Given the description of an element on the screen output the (x, y) to click on. 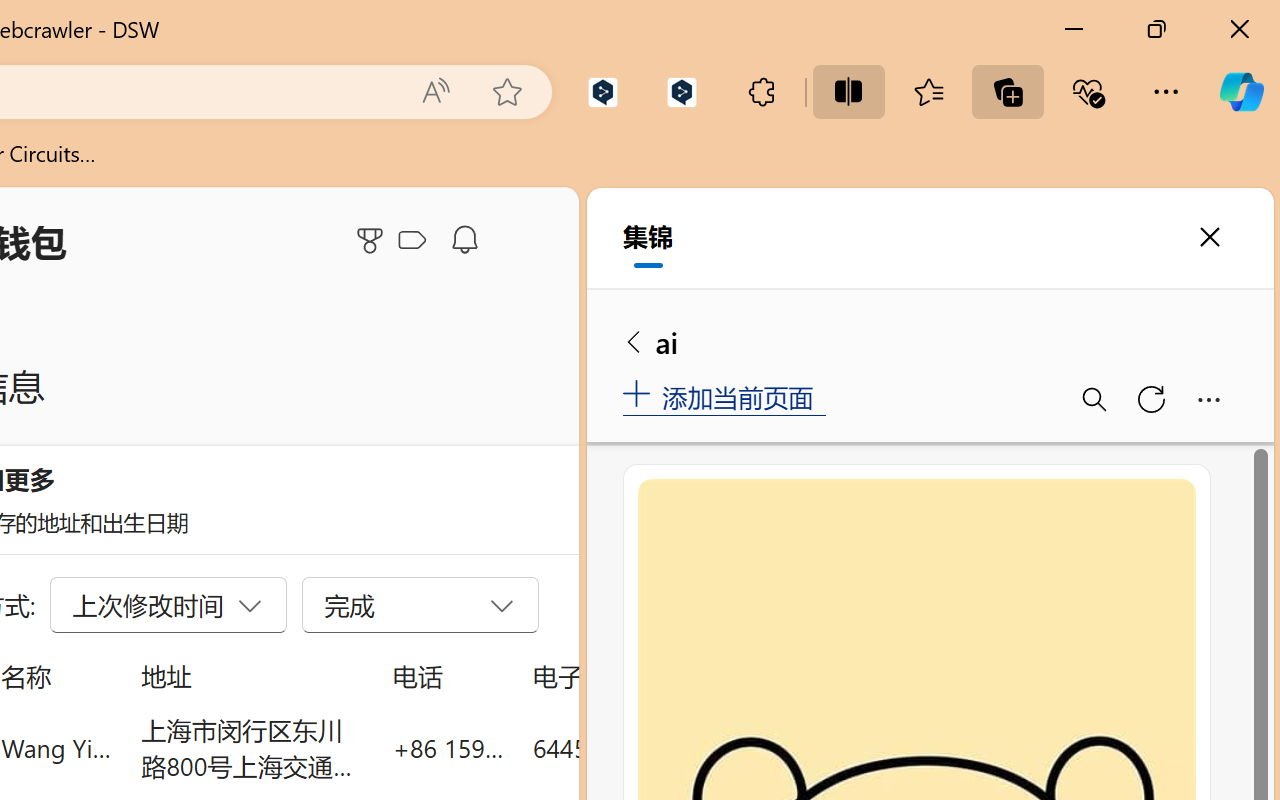
Microsoft Rewards (373, 240)
Microsoft Cashback (415, 241)
+86 159 0032 4640 (447, 747)
Class: ___1lmltc5 f1agt3bx f12qytpq (411, 241)
